Given the description of an element on the screen output the (x, y) to click on. 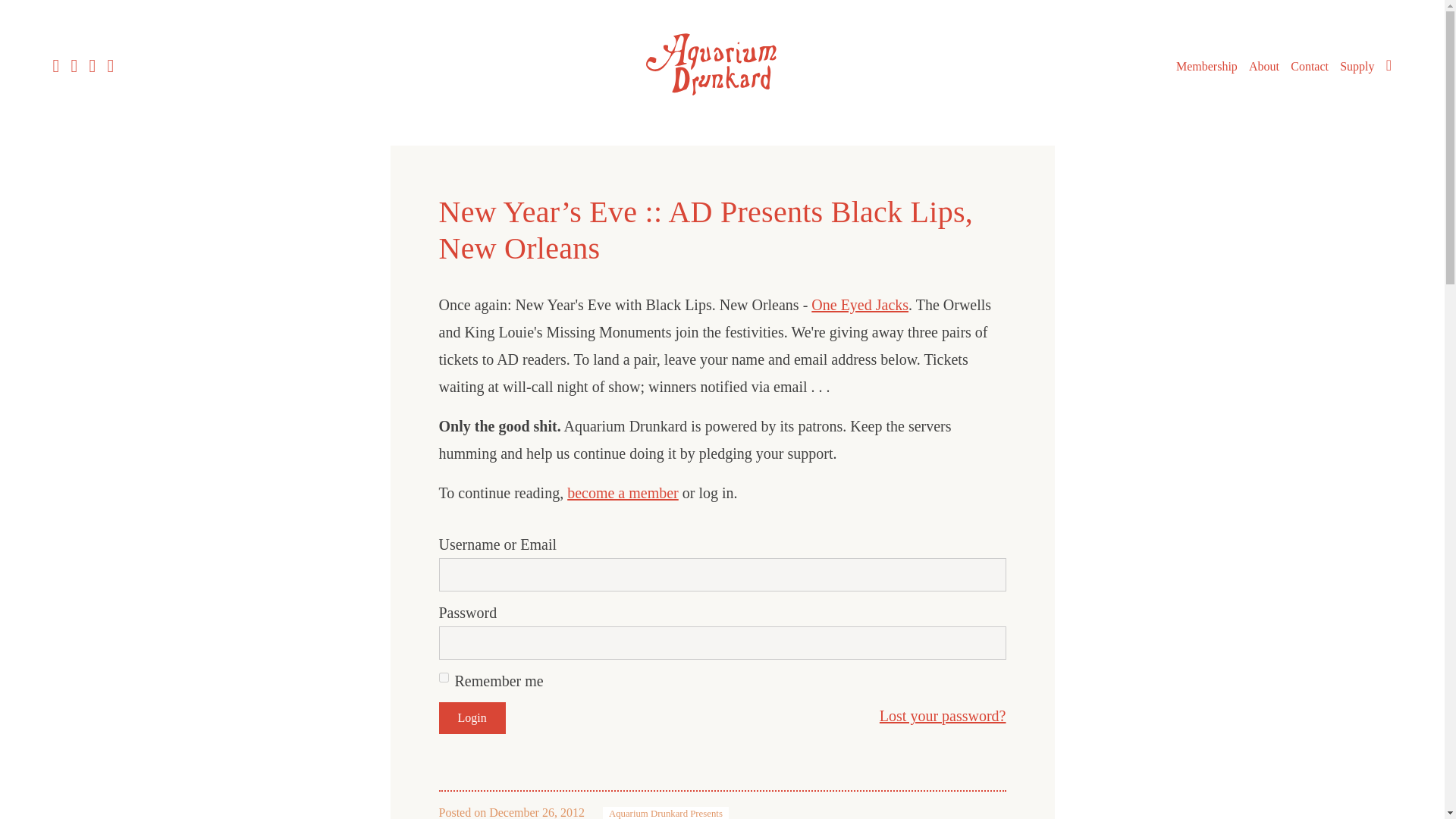
December 26, 2012 (537, 812)
Lost your password? (942, 715)
Aquarium Drunkard (721, 100)
About Aquarium Drunkard (1264, 66)
Supply (1356, 66)
become a member (622, 492)
One Eyed Jacks (859, 304)
Contact Aquarium Drunkard (1308, 66)
Login (471, 717)
Aquarium Drunkard (721, 64)
1 (443, 677)
Login (471, 717)
Aquarium Drunkard Presents (665, 812)
Aquarium Drunkard Merch Shop (1356, 66)
Contact (1308, 66)
